Given the description of an element on the screen output the (x, y) to click on. 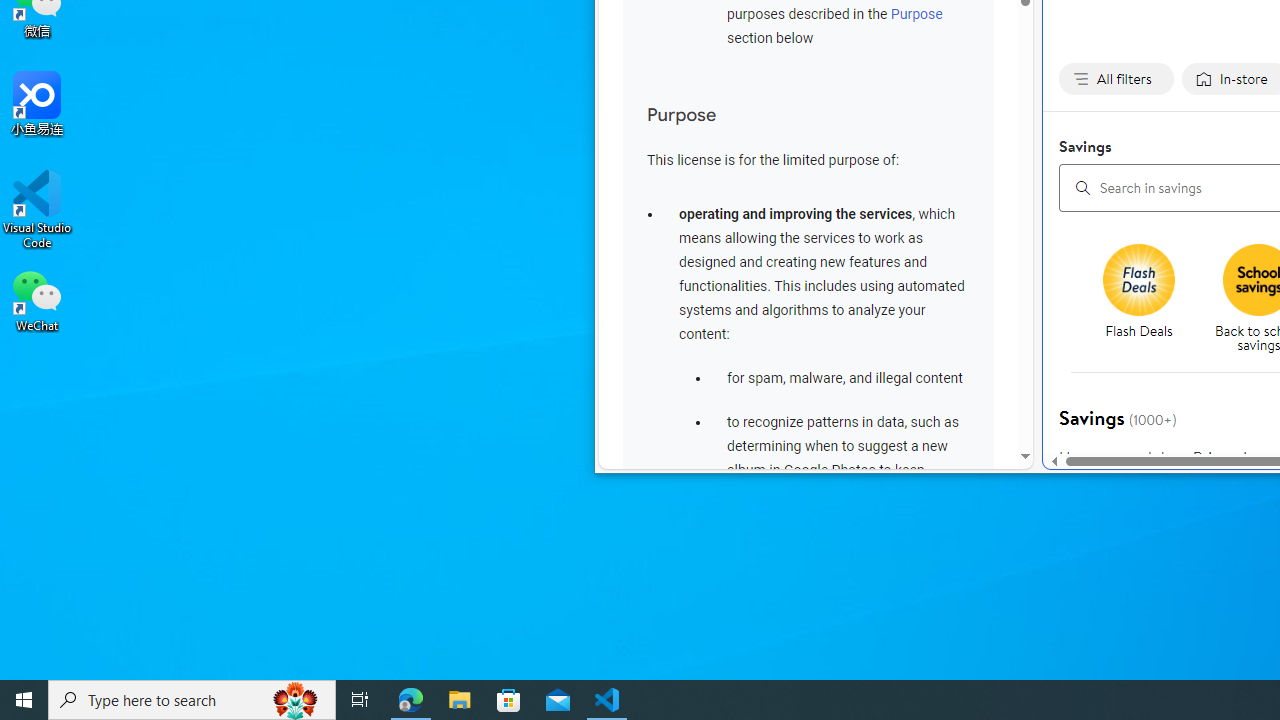
Visual Studio Code (37, 209)
WeChat (37, 299)
